Given the description of an element on the screen output the (x, y) to click on. 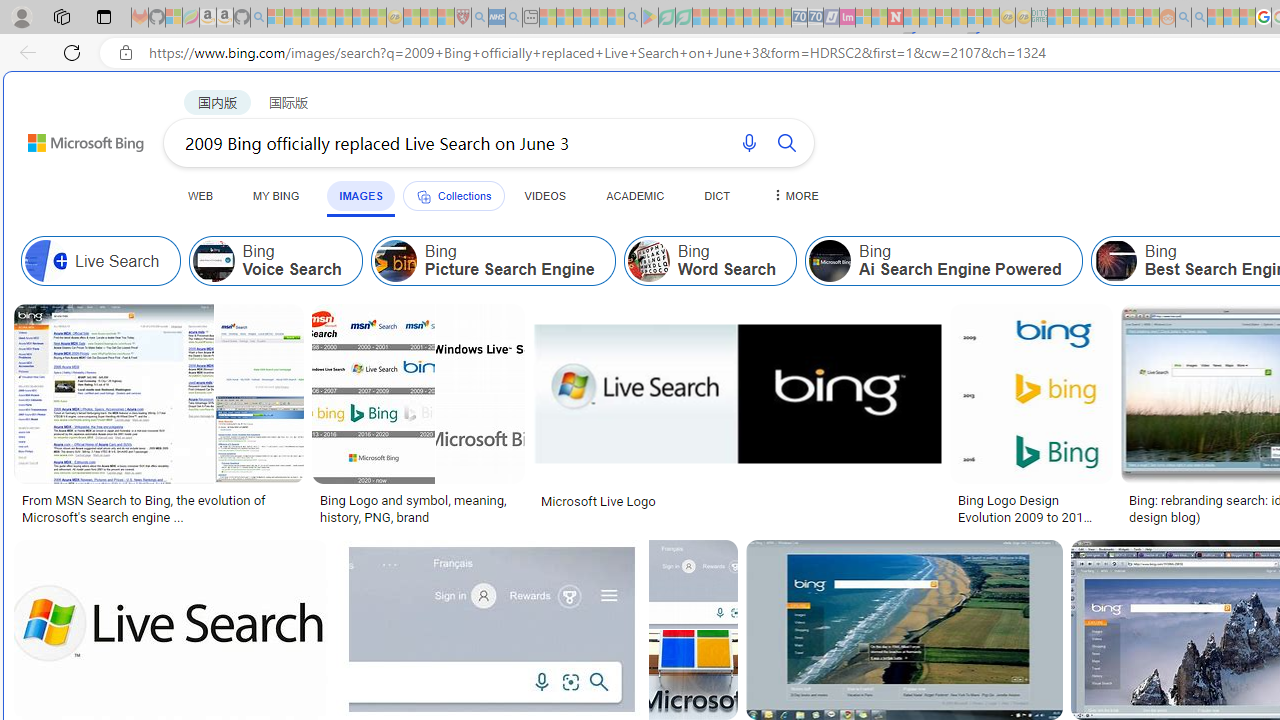
ACADEMIC (635, 195)
Terms of Use Agreement - Sleeping (666, 17)
Class: item col (943, 260)
Back to Bing search (73, 138)
14 Common Myths Debunked By Scientific Facts - Sleeping (927, 17)
Live Search (100, 260)
